Given the description of an element on the screen output the (x, y) to click on. 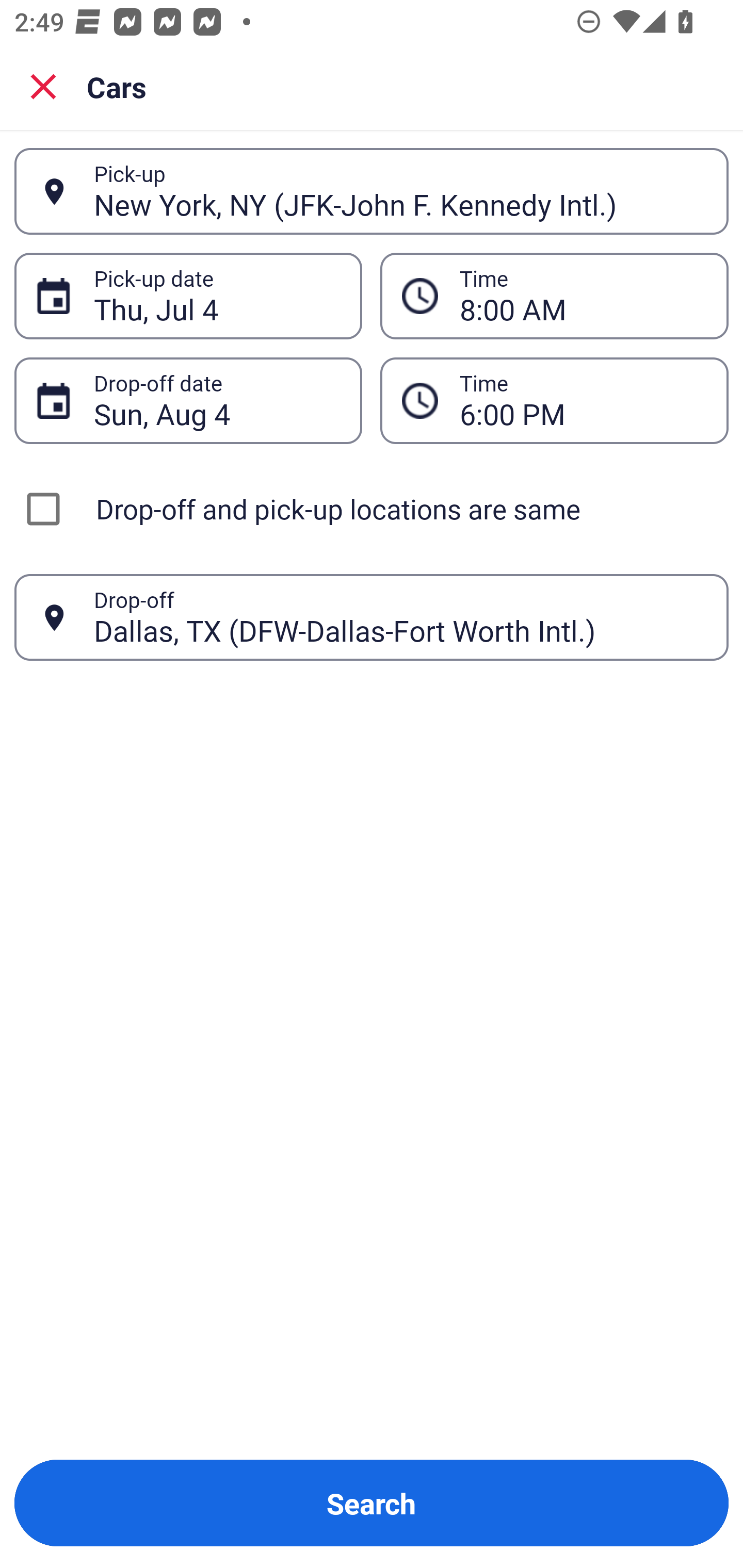
Close search screen (43, 86)
New York, NY (JFK-John F. Kennedy Intl.) Pick-up (371, 191)
New York, NY (JFK-John F. Kennedy Intl.) (399, 191)
Thu, Jul 4 Pick-up date (188, 295)
8:00 AM (554, 295)
Thu, Jul 4 (216, 296)
8:00 AM (582, 296)
Sun, Aug 4 Drop-off date (188, 400)
6:00 PM (554, 400)
Sun, Aug 4 (216, 400)
6:00 PM (582, 400)
Drop-off and pick-up locations are same (371, 508)
Dallas, TX (DFW-Dallas-Fort Worth Intl.) Drop-off (371, 616)
Dallas, TX (DFW-Dallas-Fort Worth Intl.) (399, 616)
Search Button Search (371, 1502)
